Given the description of an element on the screen output the (x, y) to click on. 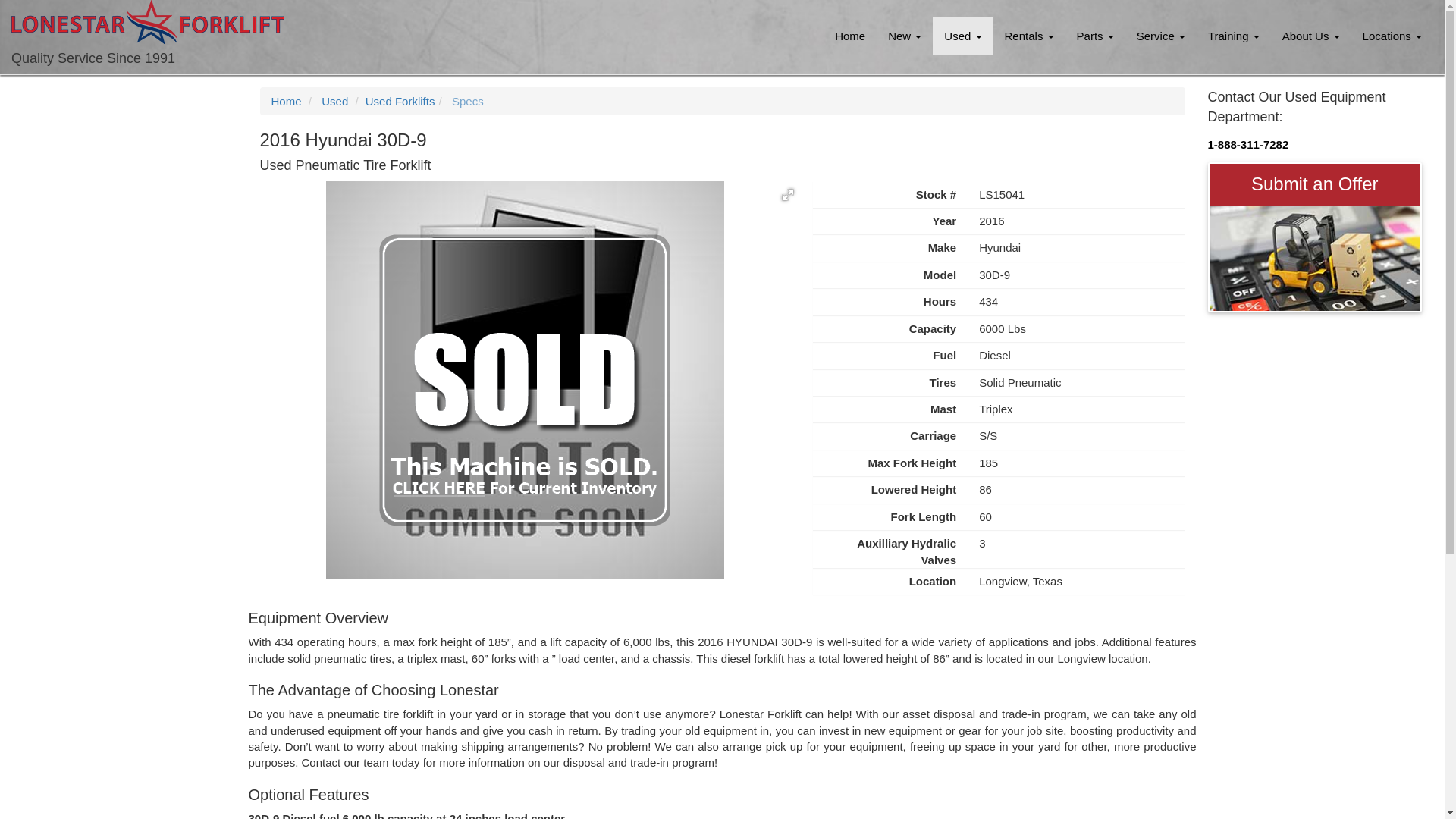
Home (850, 36)
Training (1233, 36)
Rentals (1028, 36)
New (904, 36)
Used (962, 36)
Request a Quote (1314, 258)
Service (1160, 36)
Parts (1095, 36)
